Given the description of an element on the screen output the (x, y) to click on. 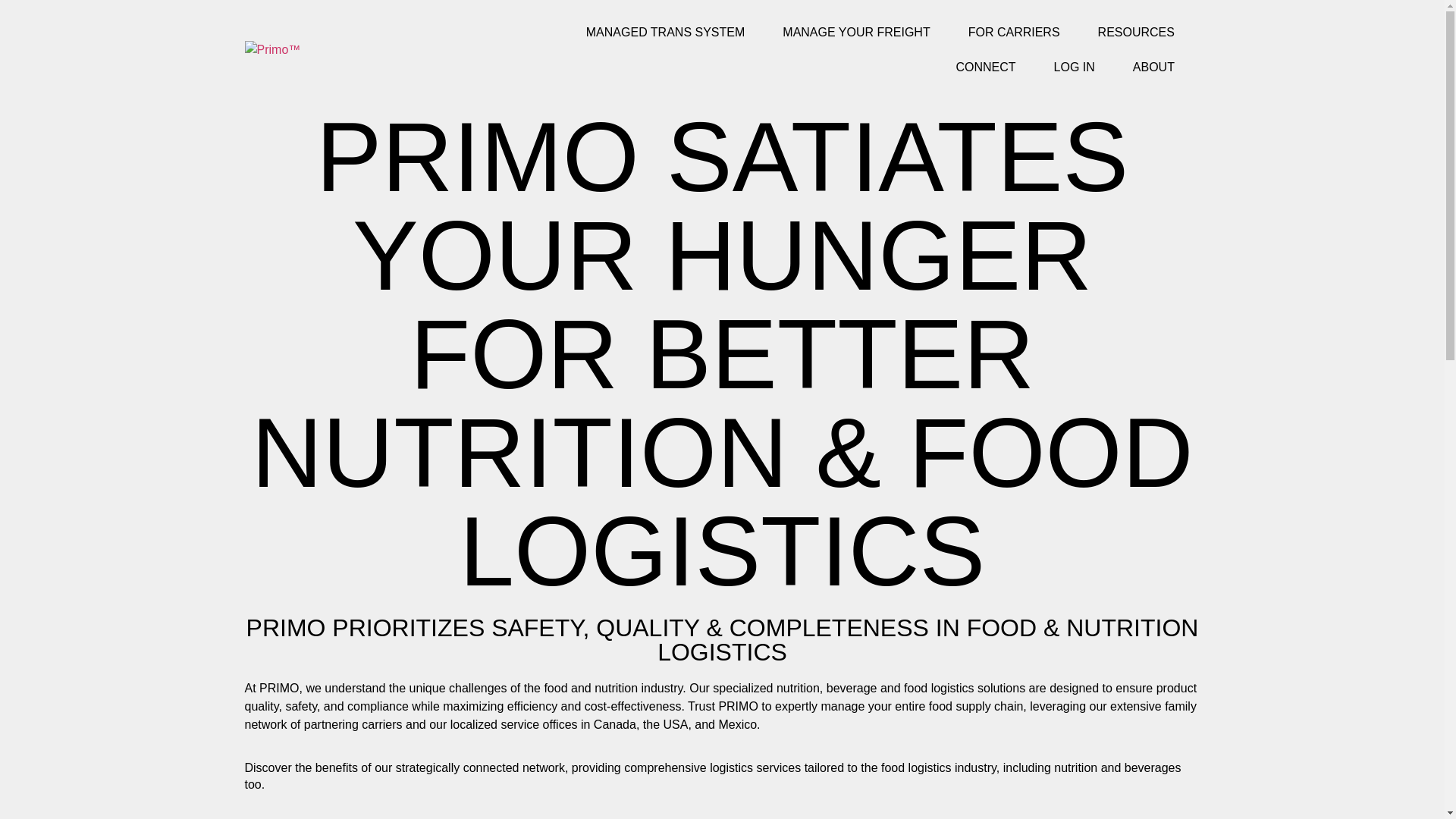
CONNECT (984, 67)
LOG IN (1074, 67)
FOR CARRIERS (1013, 32)
RESOURCES (1135, 32)
ABOUT (1153, 67)
MANAGED TRANS SYSTEM (665, 32)
MANAGE YOUR FREIGHT (855, 32)
